Given the description of an element on the screen output the (x, y) to click on. 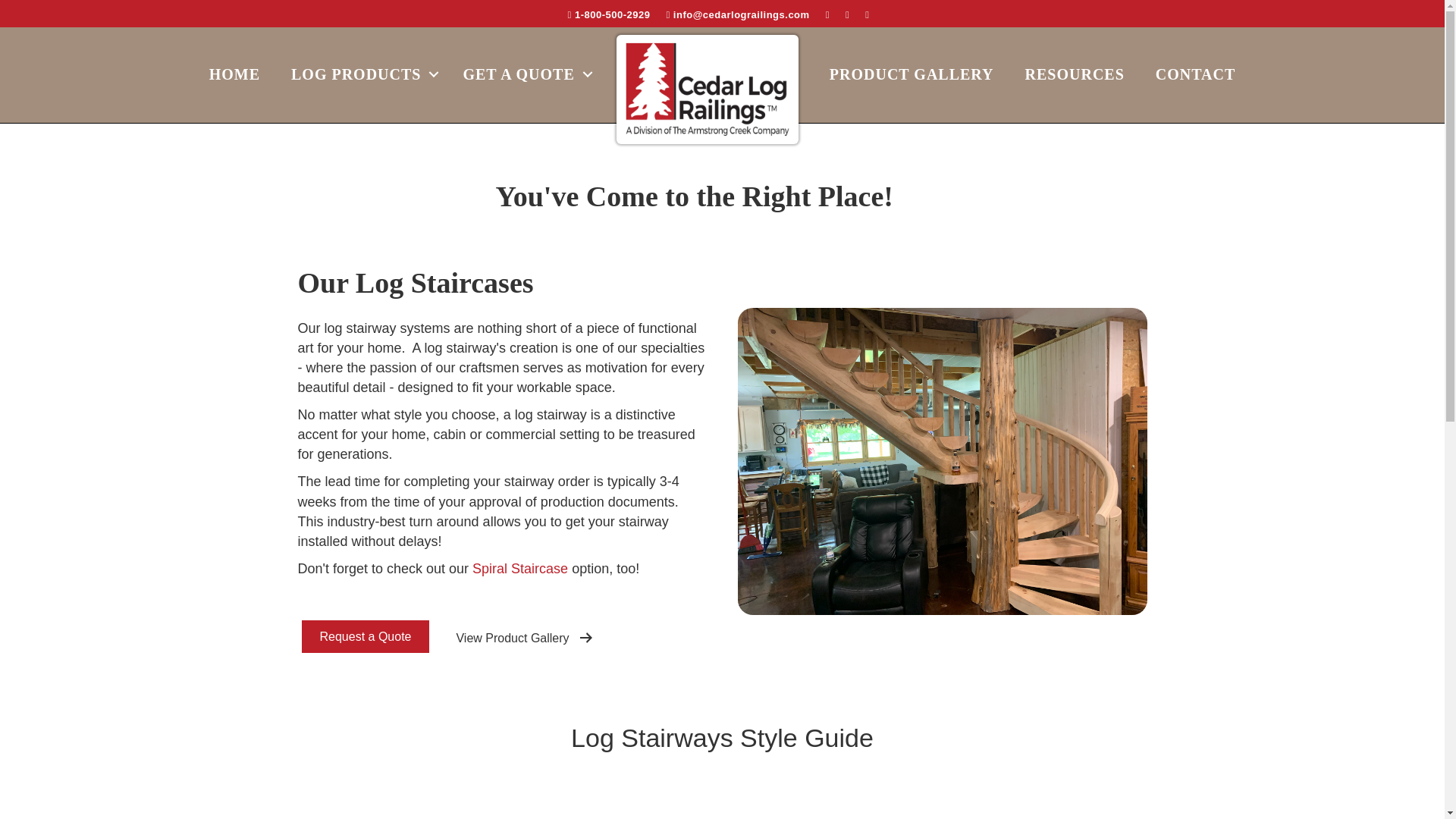
GET A QUOTE (522, 73)
RESOURCES (1075, 73)
Spiral Staircase (519, 568)
Request a Quote (365, 635)
View Product Gallery (524, 637)
PRODUCT GALLERY (911, 73)
LOG PRODUCTS (361, 73)
CONTACT (1195, 73)
1-800-500-2929 (609, 13)
HOME (234, 73)
